Given the description of an element on the screen output the (x, y) to click on. 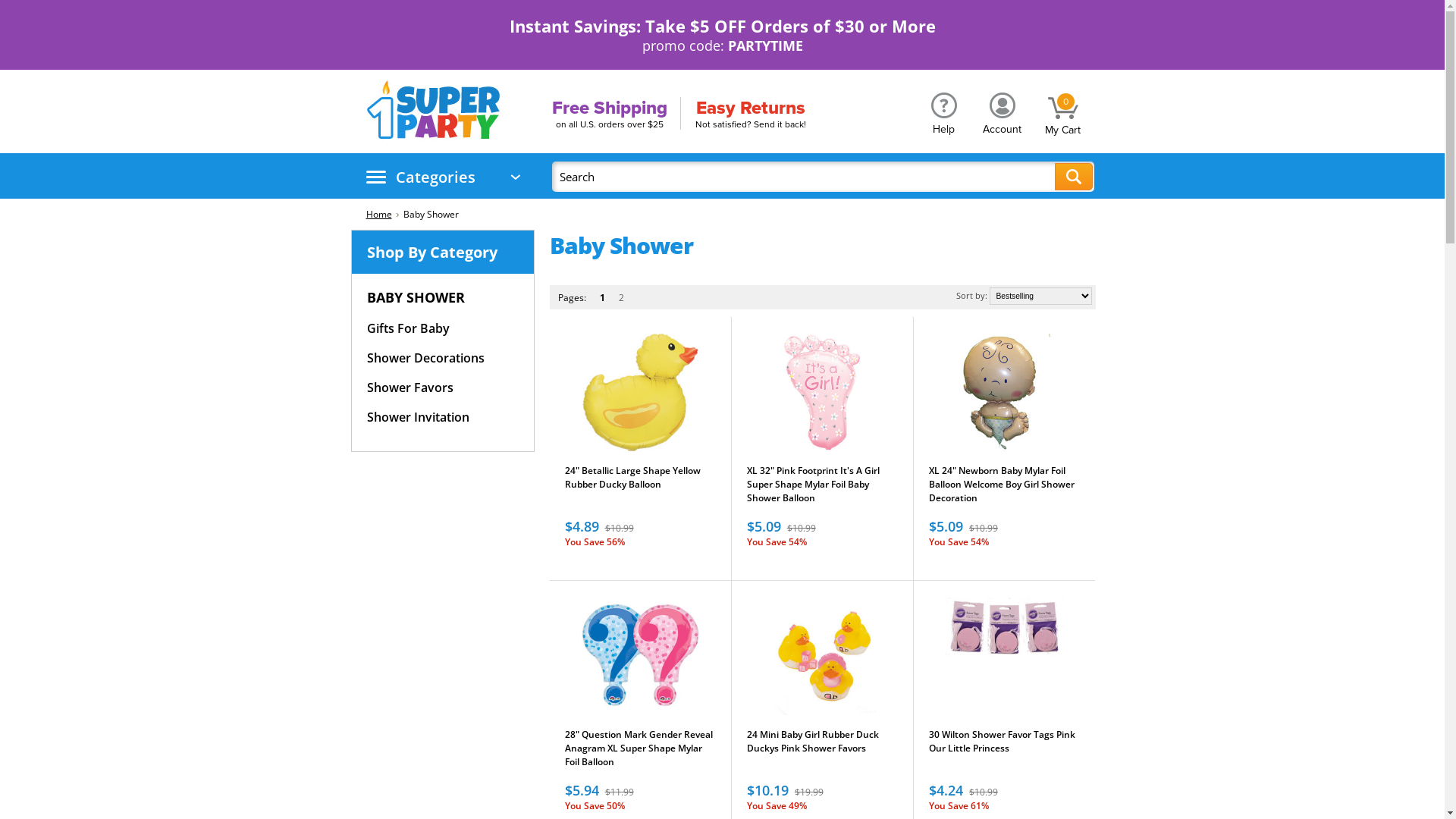
Shower Decorations Element type: text (425, 358)
24" Betallic Large Shape Yellow Rubber Ducky Balloon Element type: text (639, 484)
0
My Cart Element type: text (1061, 109)
Shower Invitation Element type: text (418, 417)
30 Wilton Shower Favor Tags Pink Our Little Princess Element type: text (1003, 748)
BABY SHOWER Element type: text (425, 297)
24 Mini Baby Girl Rubber Duck Duckys Pink Shower Favors Element type: text (821, 748)
Home Element type: text (381, 213)
2 Element type: text (620, 298)
Gifts For Baby Element type: text (408, 328)
Shower Favors Element type: text (410, 387)
